Given the description of an element on the screen output the (x, y) to click on. 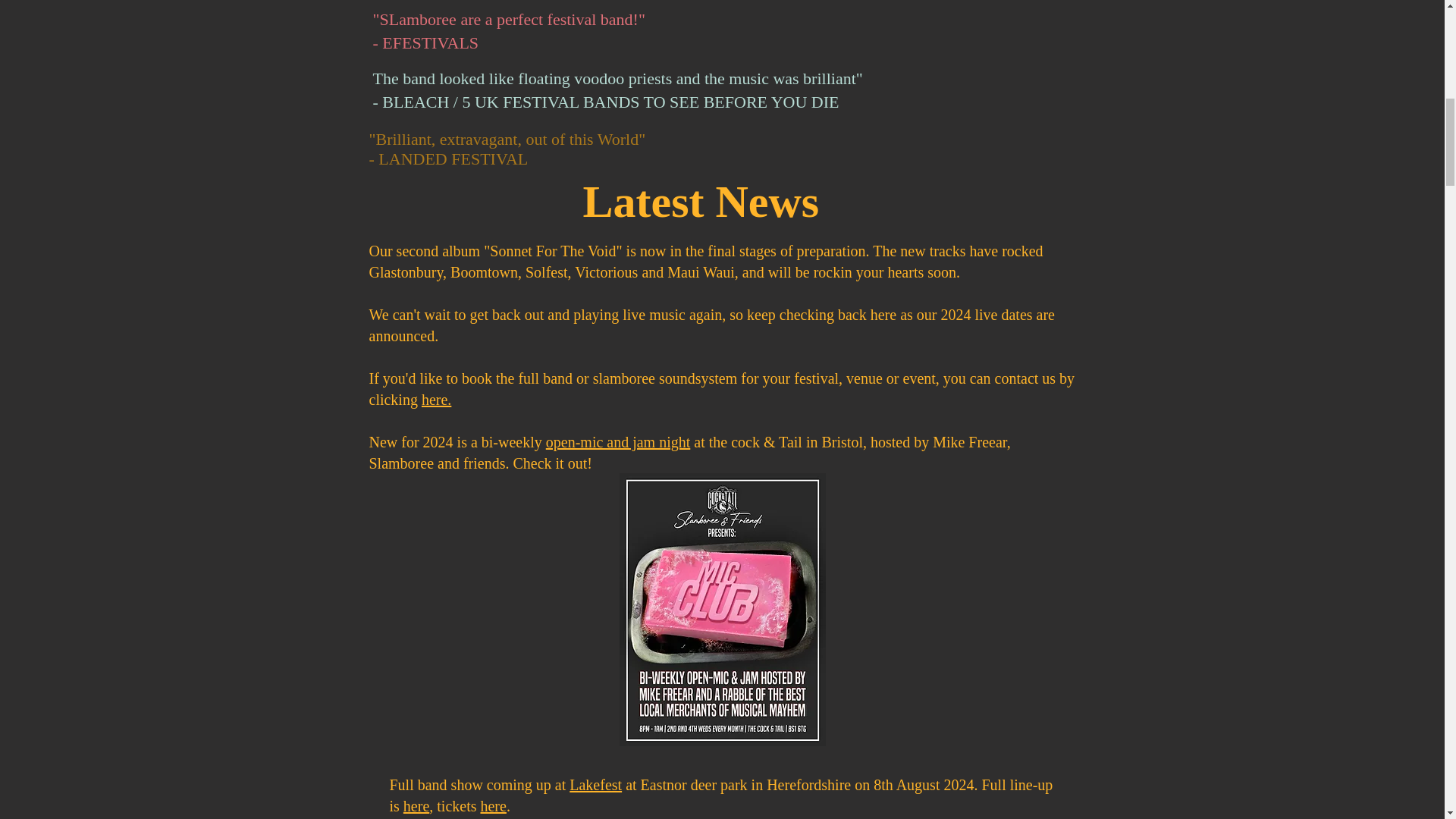
here (492, 805)
here (416, 805)
open-mic and jam night (618, 442)
here. (436, 399)
Lakefest (595, 784)
